Given the description of an element on the screen output the (x, y) to click on. 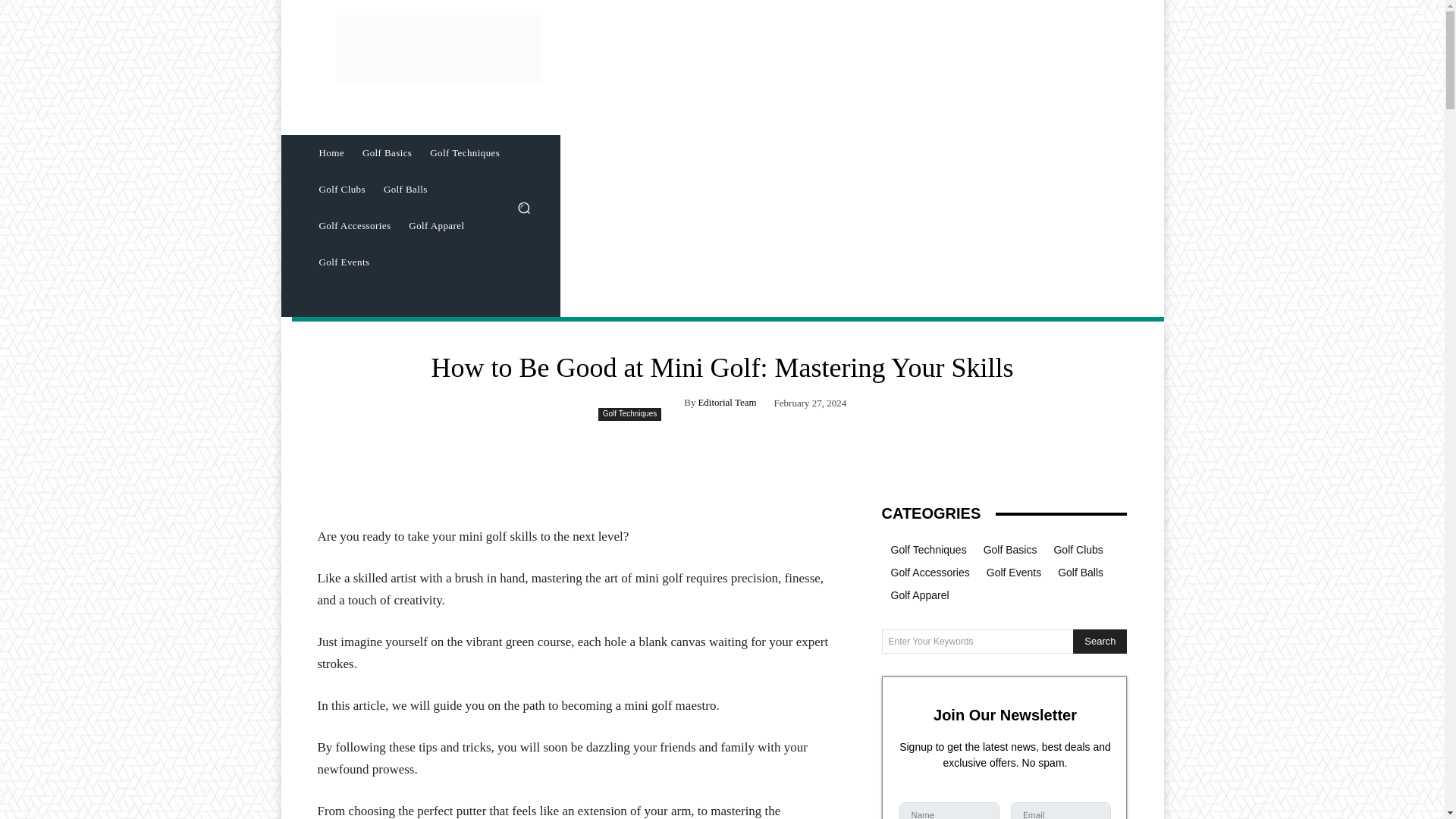
Golf Techniques (630, 413)
Editorial Team (726, 402)
Golf Balls (405, 189)
Golf Techniques (464, 153)
Golf Clubs (341, 189)
Golf Basics (386, 153)
Home (330, 153)
Golf Events (343, 262)
Golf Apparel (435, 226)
Golf Accessories (353, 226)
